Given the description of an element on the screen output the (x, y) to click on. 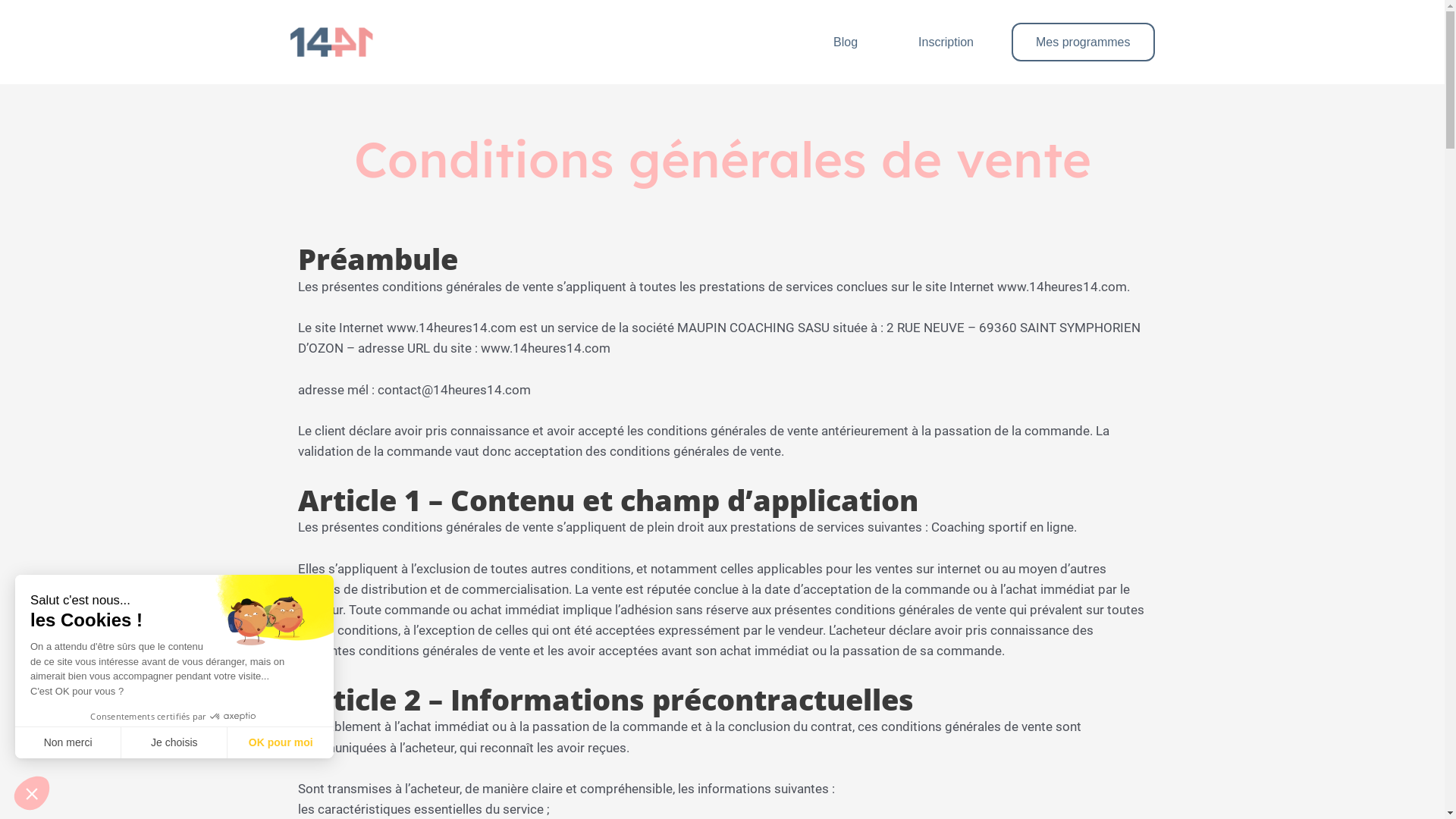
Fermer le widget sans consentement Element type: hover (31, 793)
Inscription Element type: text (953, 41)
OK pour moi Element type: text (280, 742)
Je choisis Element type: text (174, 742)
Mes programmes Element type: text (1082, 41)
Non merci Element type: text (68, 742)
Blog Element type: text (852, 41)
